Given the description of an element on the screen output the (x, y) to click on. 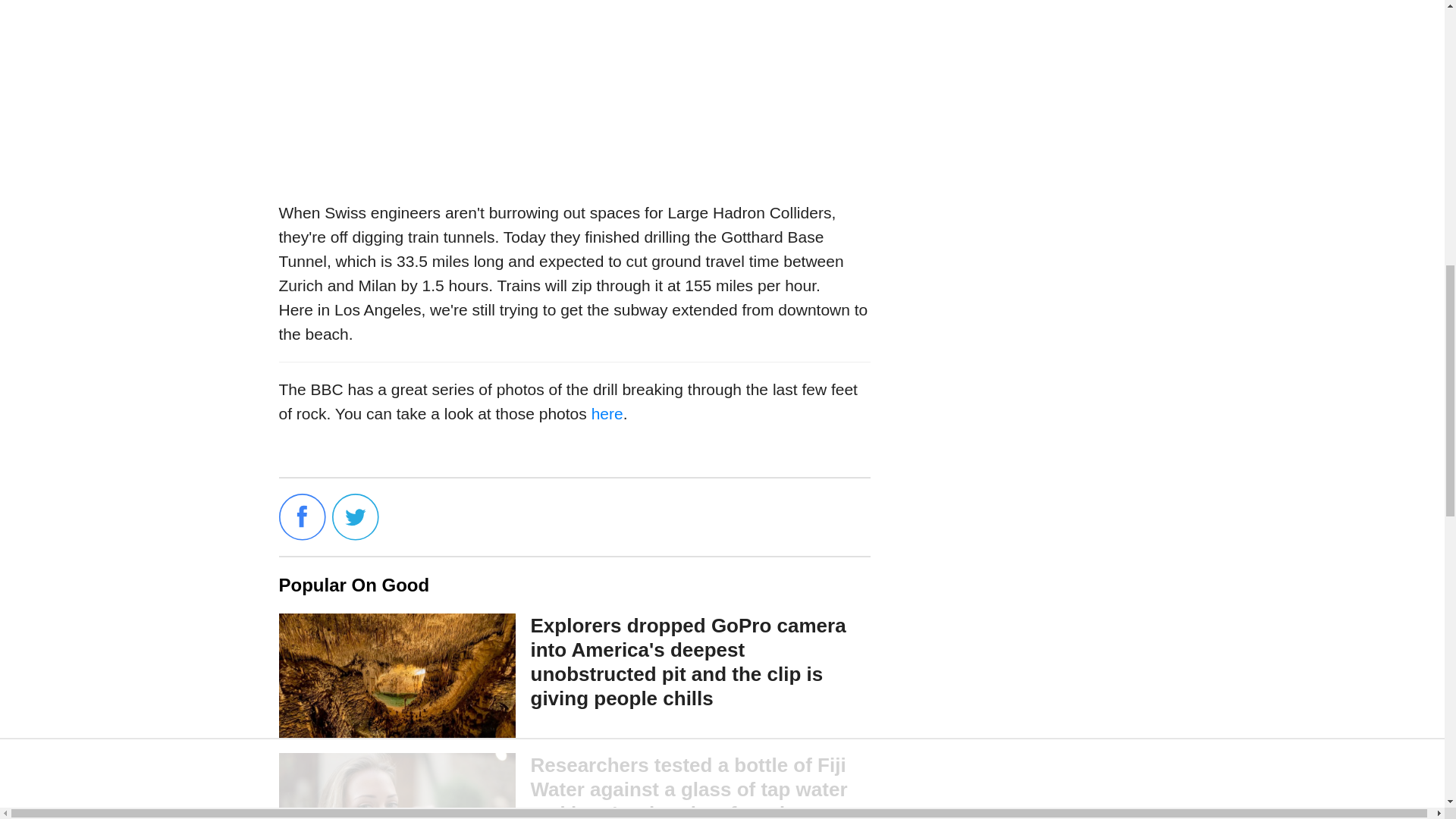
here (607, 413)
